Given the description of an element on the screen output the (x, y) to click on. 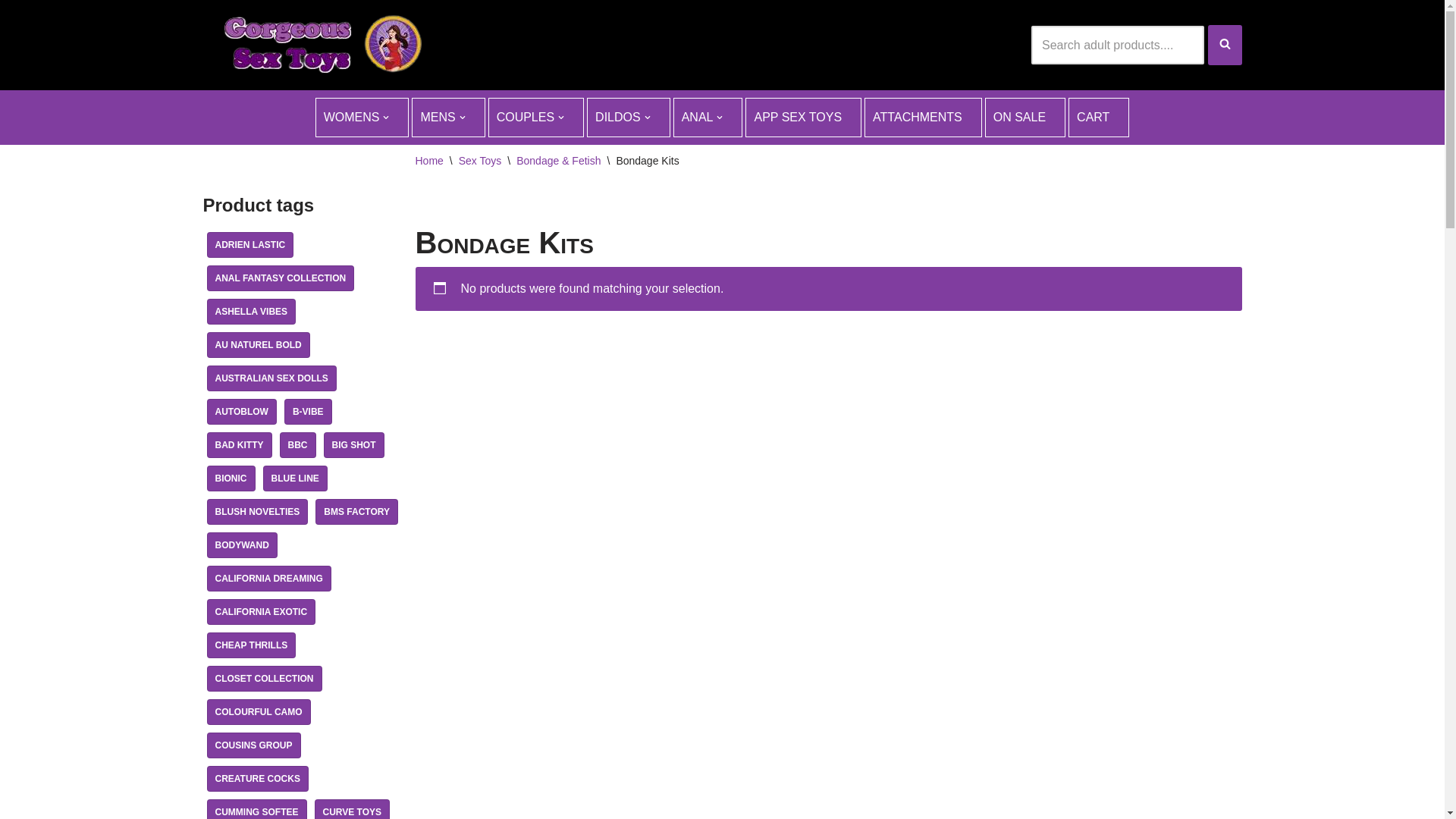
BODYWAND Element type: text (241, 545)
COLOURFUL CAMO Element type: text (258, 711)
ASHELLA VIBES Element type: text (250, 311)
WOMENS Element type: text (362, 117)
AUTOBLOW Element type: text (241, 411)
CREATURE COCKS Element type: text (256, 778)
BAD KITTY Element type: text (238, 445)
Home Element type: text (429, 160)
ATTACHMENTS Element type: text (923, 117)
BIONIC Element type: text (230, 478)
COUPLES Element type: text (535, 117)
Bondage & Fetish Element type: text (558, 160)
CLOSET COLLECTION Element type: text (263, 678)
ANAL FANTASY COLLECTION Element type: text (280, 278)
BLUSH NOVELTIES Element type: text (256, 511)
Sex Toys Element type: text (480, 160)
AUSTRALIAN SEX DOLLS Element type: text (270, 378)
Skip to content Element type: text (11, 31)
Gorgeous Sex Toys Element type: hover (316, 44)
CART Element type: text (1098, 117)
ANAL Element type: text (708, 117)
B-VIBE Element type: text (308, 411)
ON SALE Element type: text (1025, 117)
CHEAP THRILLS Element type: text (250, 645)
BBC Element type: text (297, 445)
APP SEX TOYS Element type: text (803, 117)
COUSINS GROUP Element type: text (253, 745)
BLUE LINE Element type: text (294, 478)
CALIFORNIA DREAMING Element type: text (268, 578)
CALIFORNIA EXOTIC Element type: text (260, 611)
ADRIEN LASTIC Element type: text (249, 244)
MENS Element type: text (447, 117)
BIG SHOT Element type: text (353, 445)
DILDOS Element type: text (628, 117)
BMS FACTORY Element type: text (356, 511)
AU NATUREL BOLD Element type: text (257, 344)
